Given the description of an element on the screen output the (x, y) to click on. 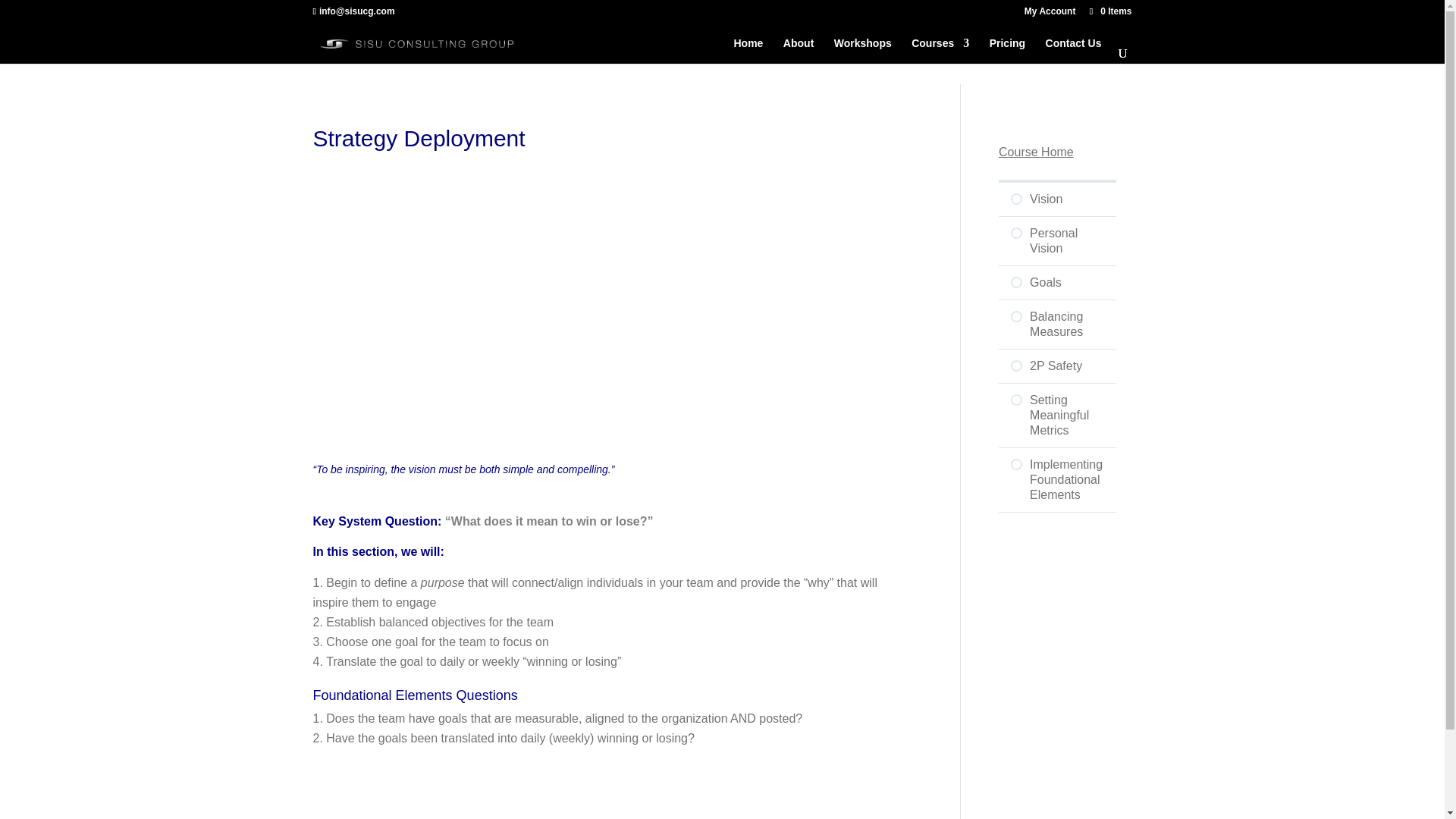
Implementing Foundational Elements (1057, 479)
Pricing (1007, 50)
2P Safety (1057, 366)
Home (747, 50)
Personal Vision (1057, 241)
My Account (1050, 14)
Contact Us (1073, 50)
Vision (1057, 199)
About (798, 50)
Workshops (862, 50)
